Given the description of an element on the screen output the (x, y) to click on. 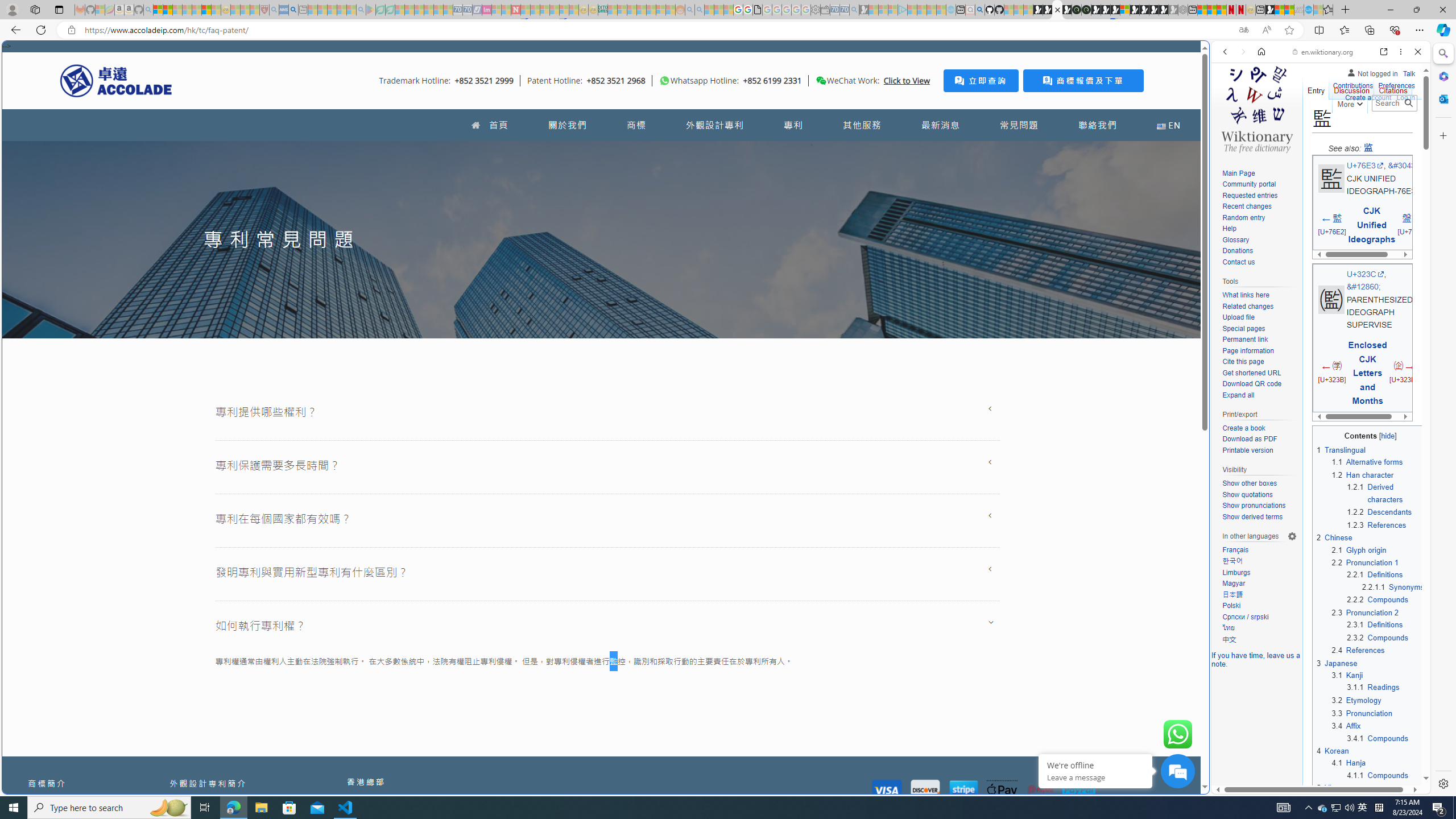
Contact us (1259, 262)
Discussion (1351, 87)
Show pronunciations (1259, 505)
1.2.3References (1385, 524)
Limburgs (1235, 572)
2.2.1.1 Synonyms (1393, 586)
EN (1168, 124)
